Given the description of an element on the screen output the (x, y) to click on. 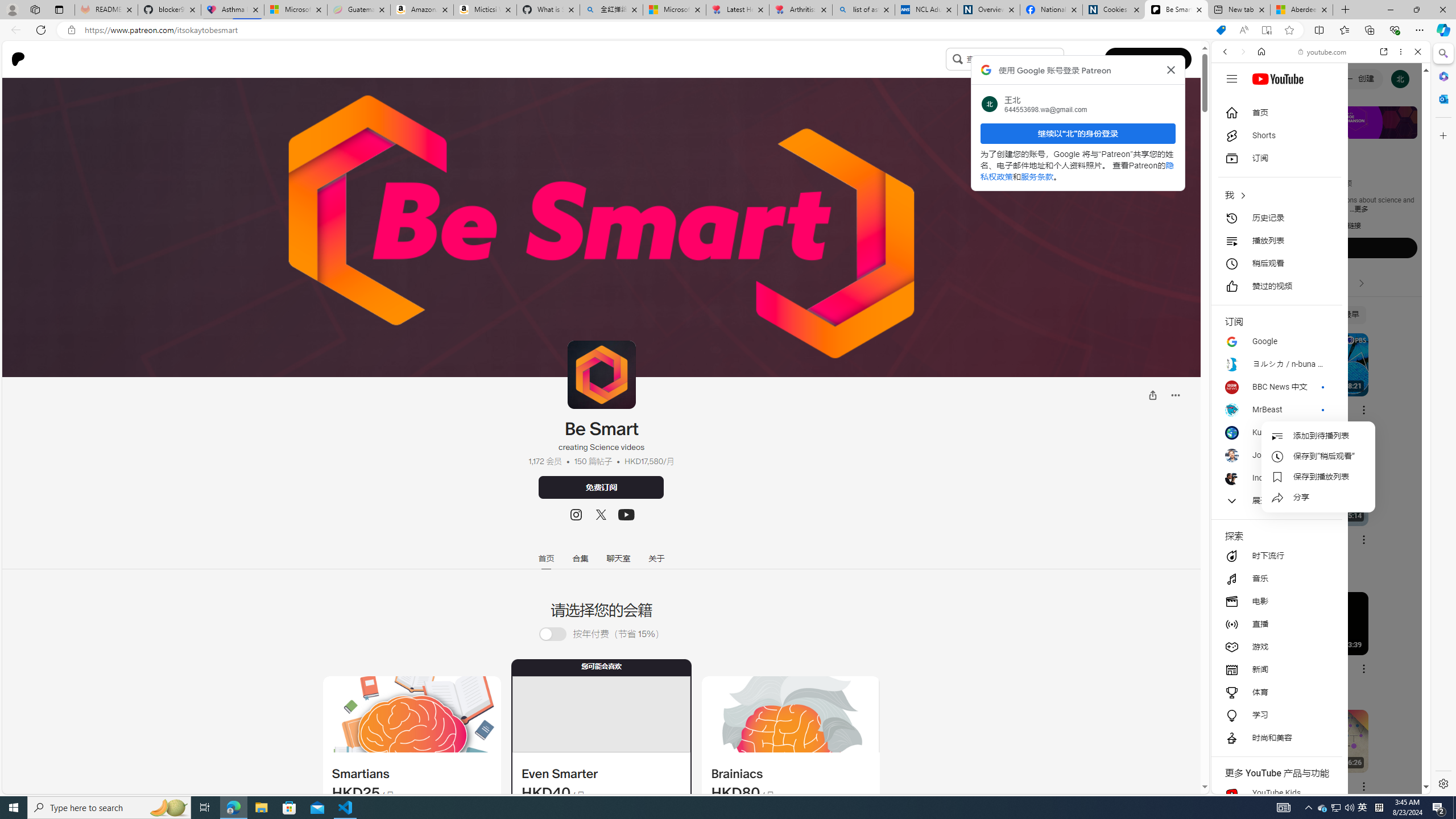
Class: dict_pnIcon rms_img (1312, 784)
Click to scroll right (1407, 456)
Global web icon (1232, 655)
Music (1320, 309)
AutomationID: right (1361, 283)
Search Filter, Search Tools (1350, 129)
